Given the description of an element on the screen output the (x, y) to click on. 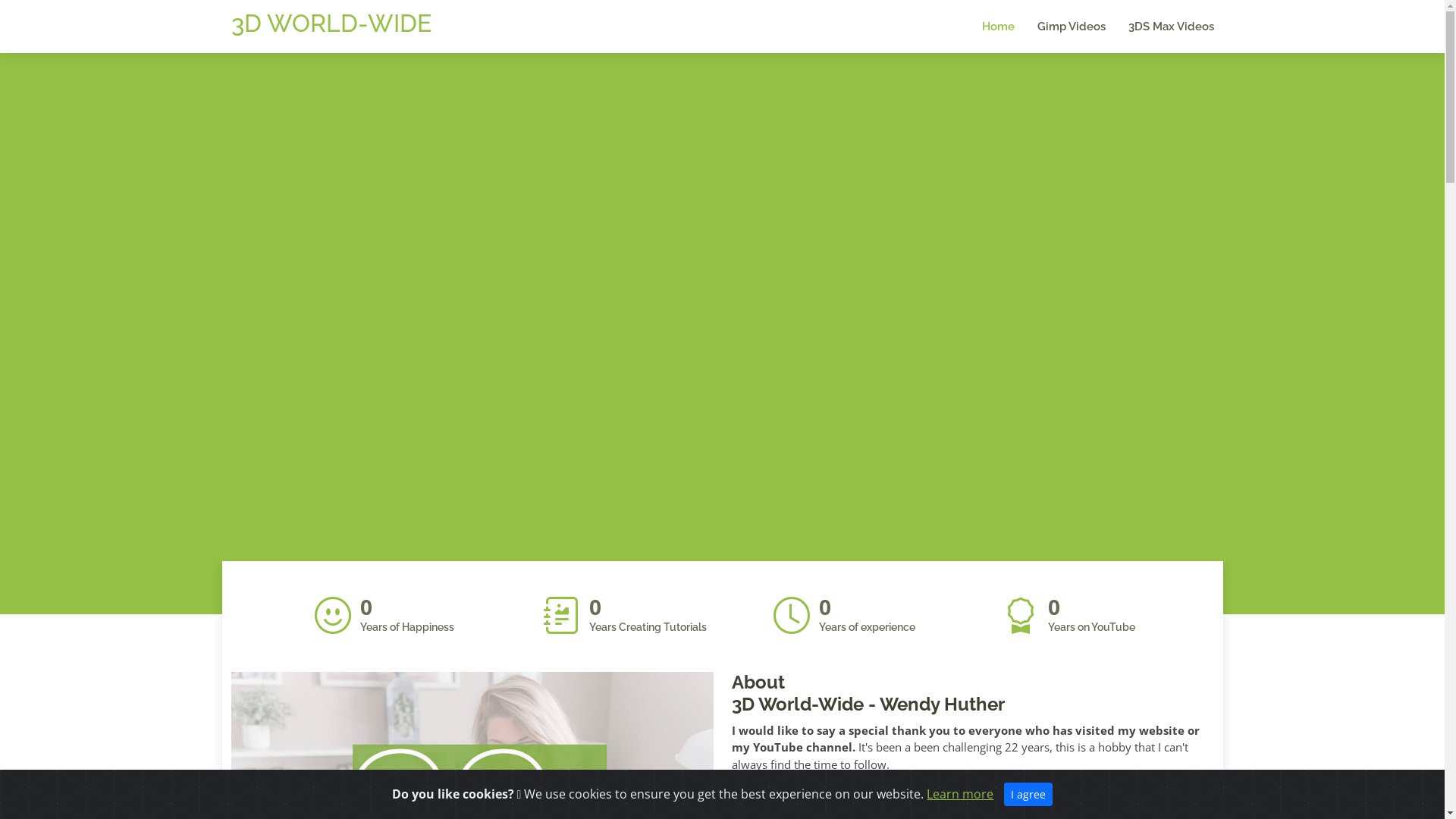
Home Element type: text (985, 26)
I agree Element type: text (1028, 794)
Learn more Element type: text (959, 793)
3DS Max Videos Element type: text (1159, 26)
3D WORLD-WIDE Element type: text (330, 23)
Gimp Videos Element type: text (1059, 26)
